Given the description of an element on the screen output the (x, y) to click on. 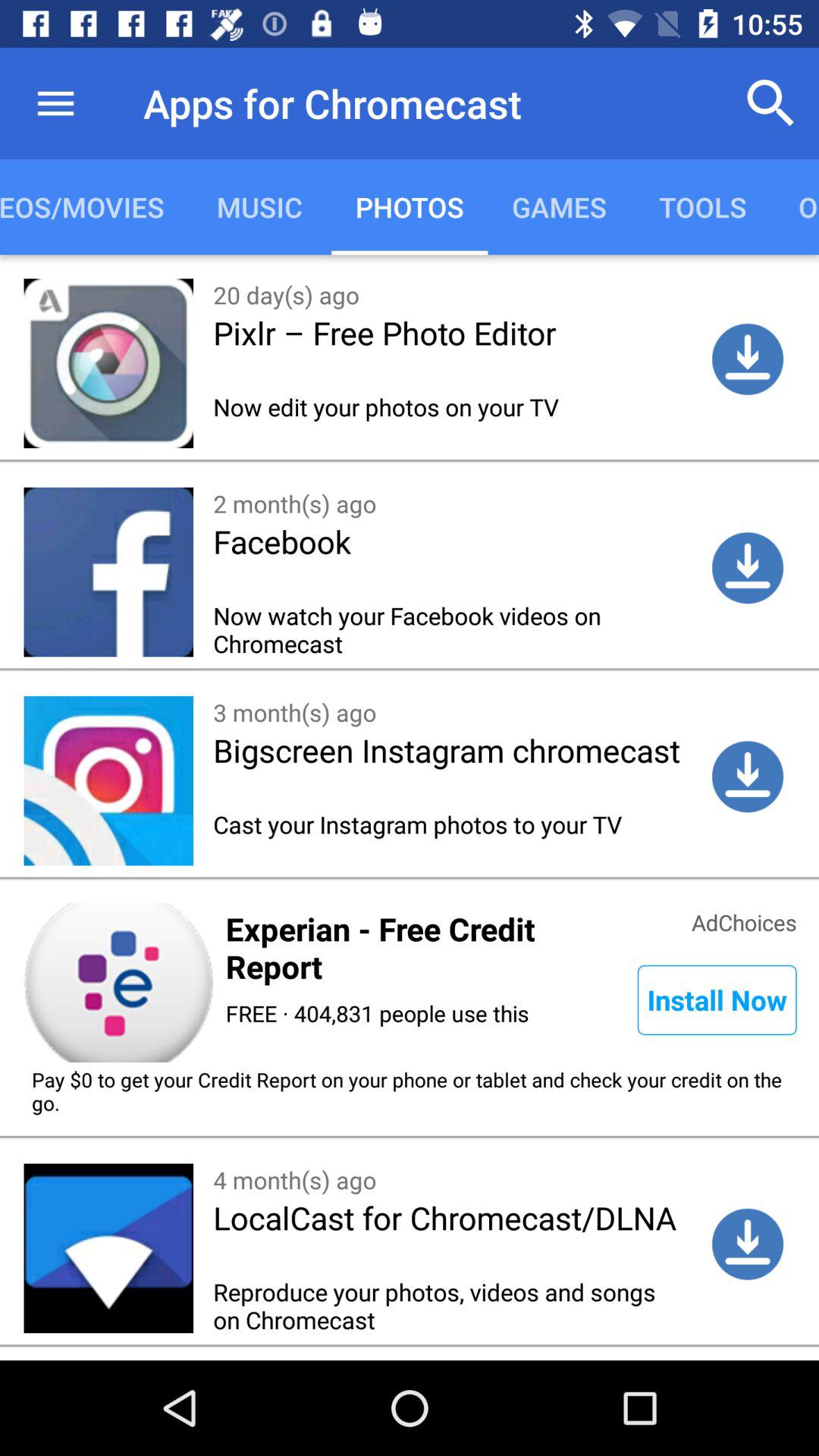
tap install now icon (716, 1000)
